Given the description of an element on the screen output the (x, y) to click on. 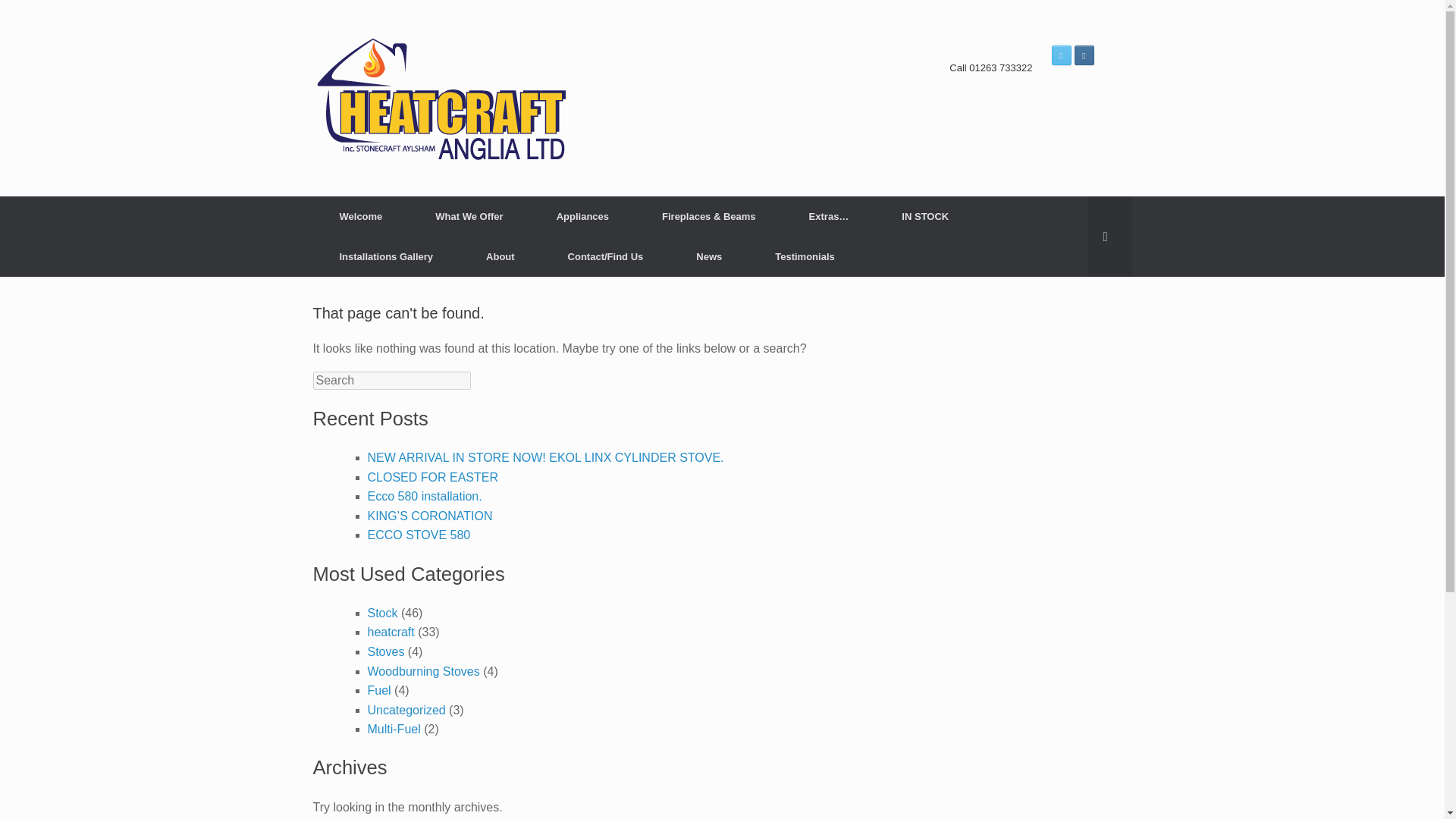
ECCO STOVE 580 (418, 534)
About (500, 256)
Heatcraft Anglia Ltd Instagram (1083, 55)
Heatcraft Anglia Ltd Twitter (1060, 55)
Woodburning Stoves (422, 670)
What We Offer (469, 216)
Installations Gallery (386, 256)
Welcome (361, 216)
NEW ARRIVAL IN STORE NOW! EKOL LINX CYLINDER STOVE. (544, 457)
Testimonials (804, 256)
IN STOCK (925, 216)
Ecco 580 installation. (423, 495)
Appliances (581, 216)
Fuel (378, 689)
Stoves (385, 651)
